Given the description of an element on the screen output the (x, y) to click on. 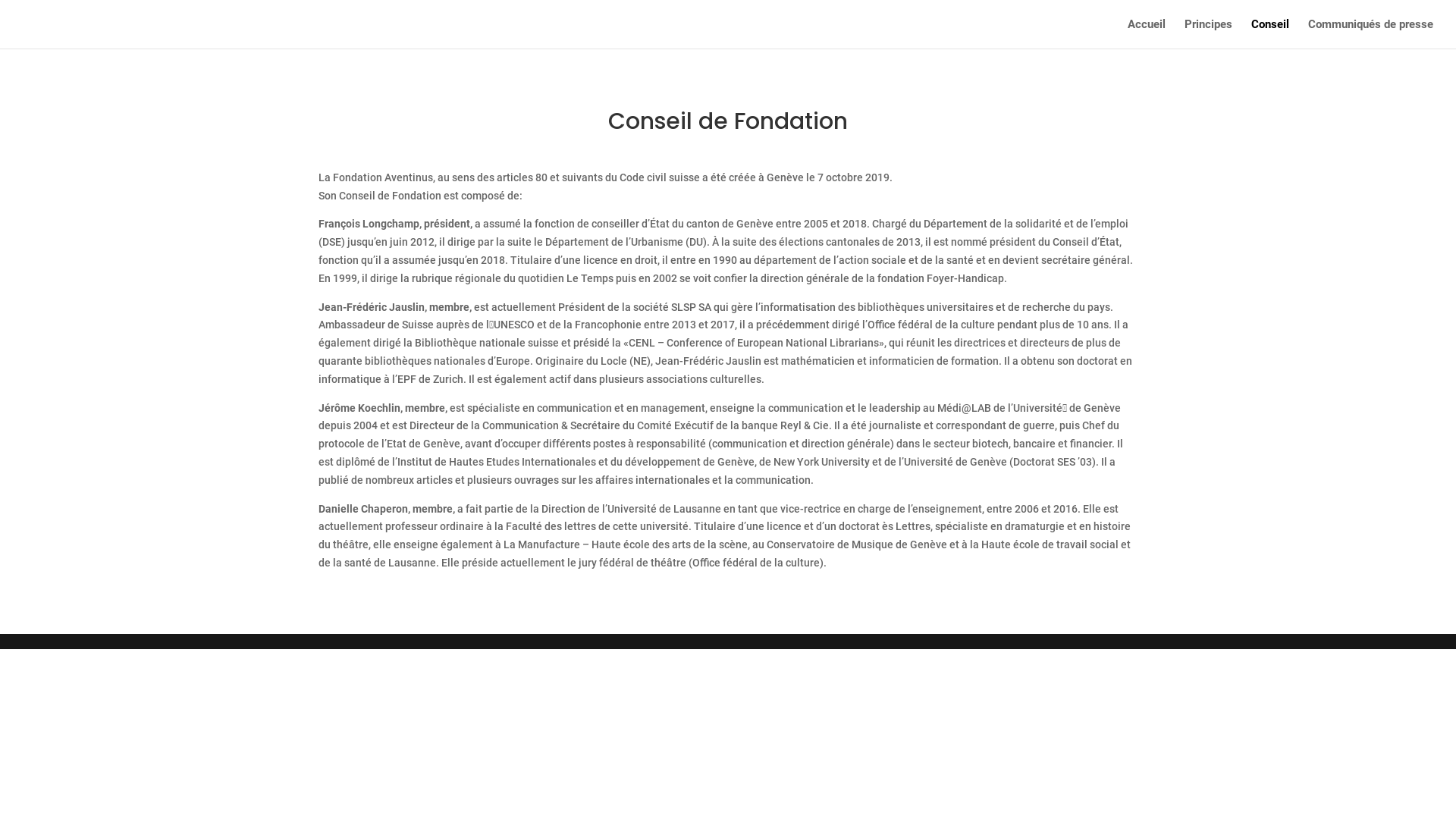
Principes Element type: text (1208, 33)
Conseil Element type: text (1270, 33)
Accueil Element type: text (1146, 33)
